Given the description of an element on the screen output the (x, y) to click on. 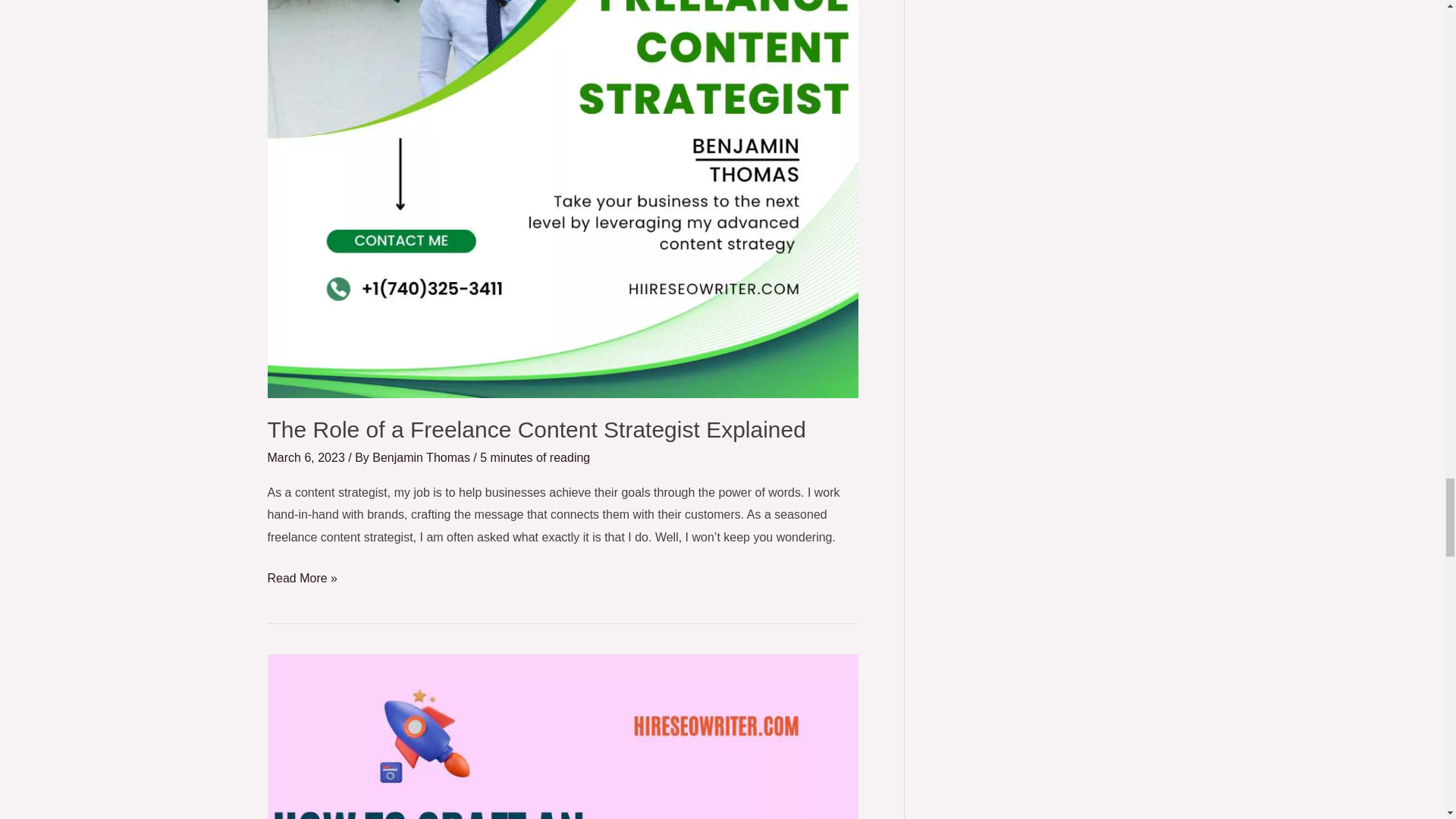
View all posts by Benjamin Thomas (422, 457)
